Given the description of an element on the screen output the (x, y) to click on. 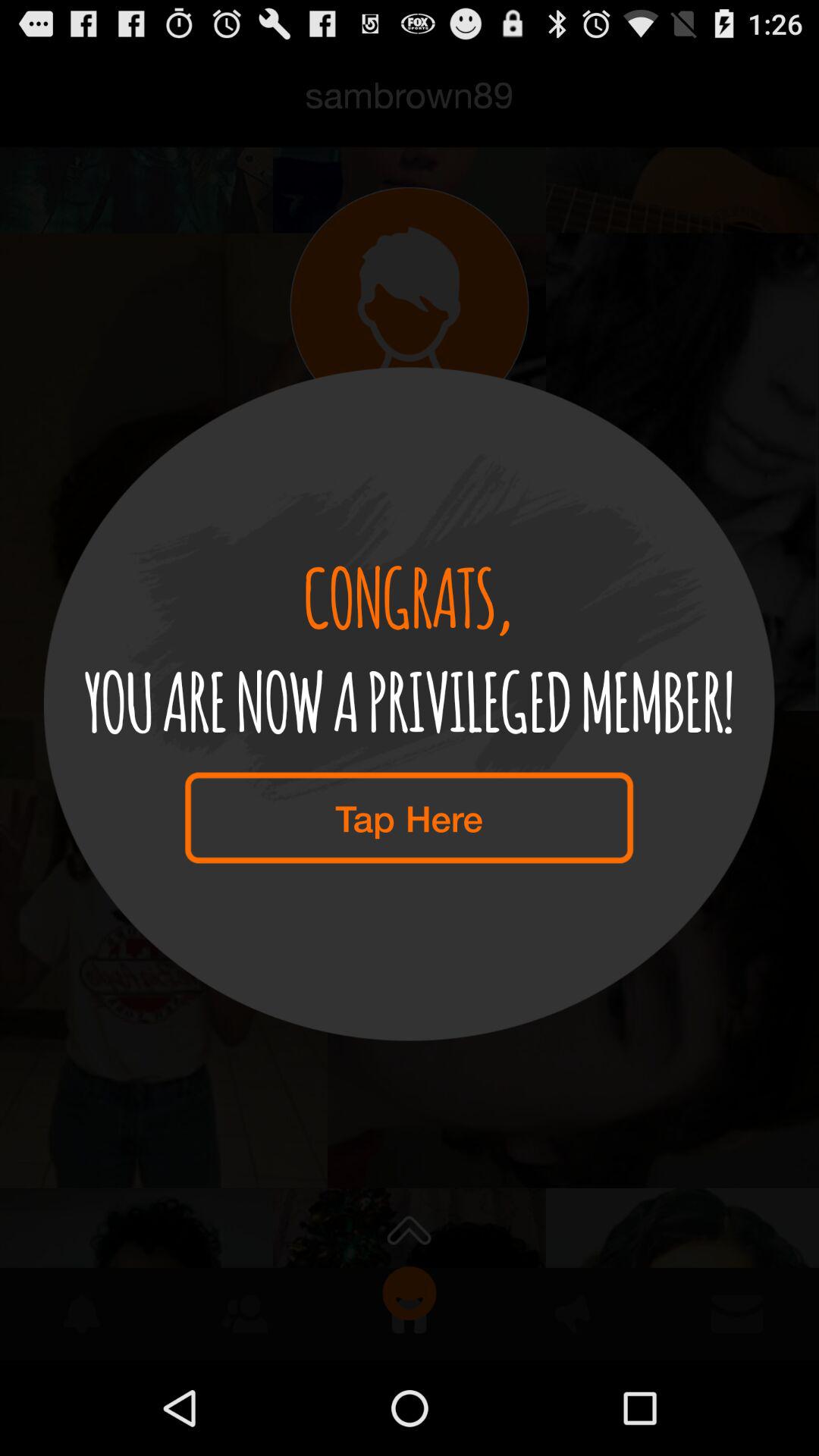
jump to the tap here (408, 817)
